Given the description of an element on the screen output the (x, y) to click on. 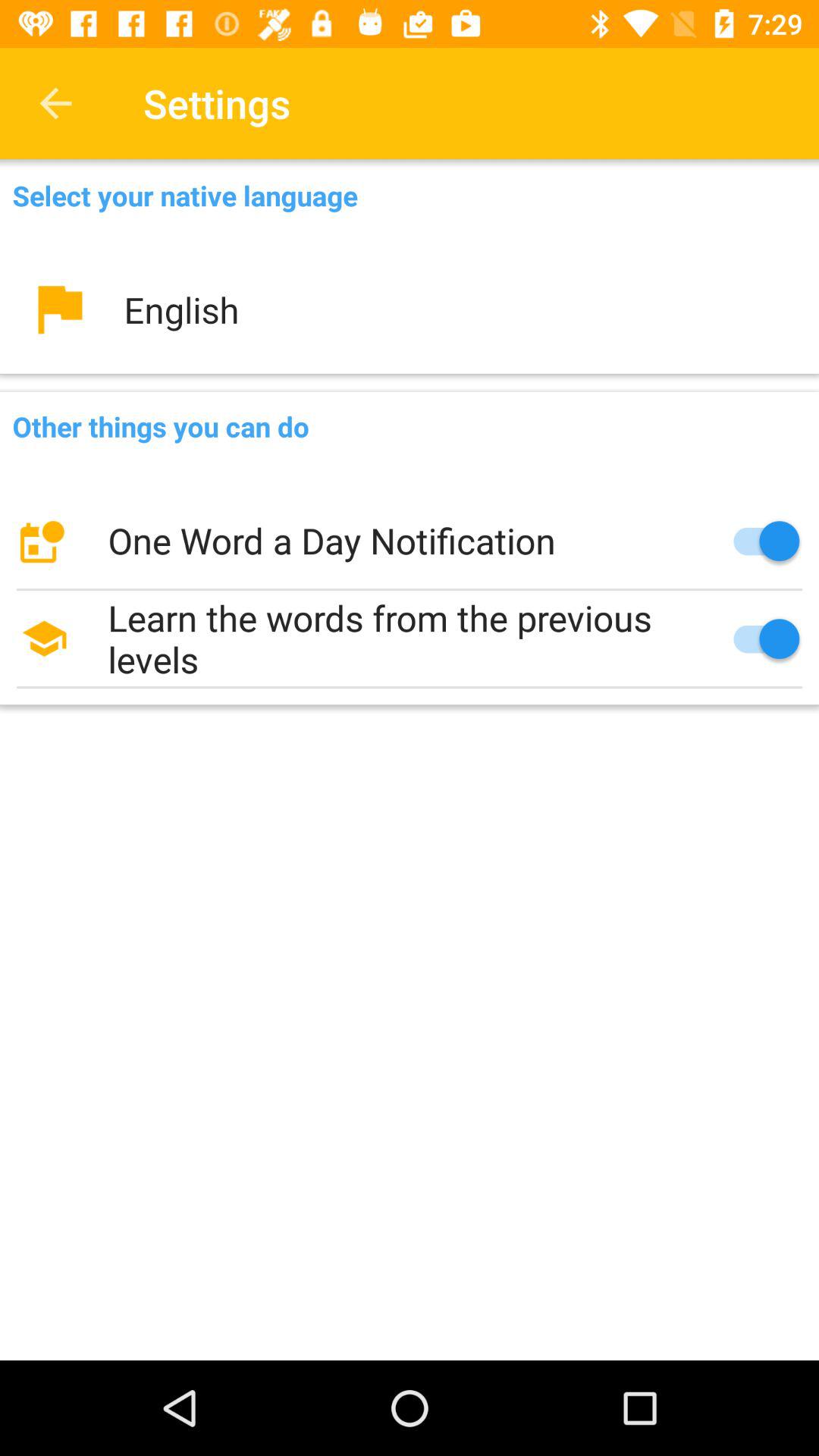
press the icon next to settings icon (55, 103)
